Given the description of an element on the screen output the (x, y) to click on. 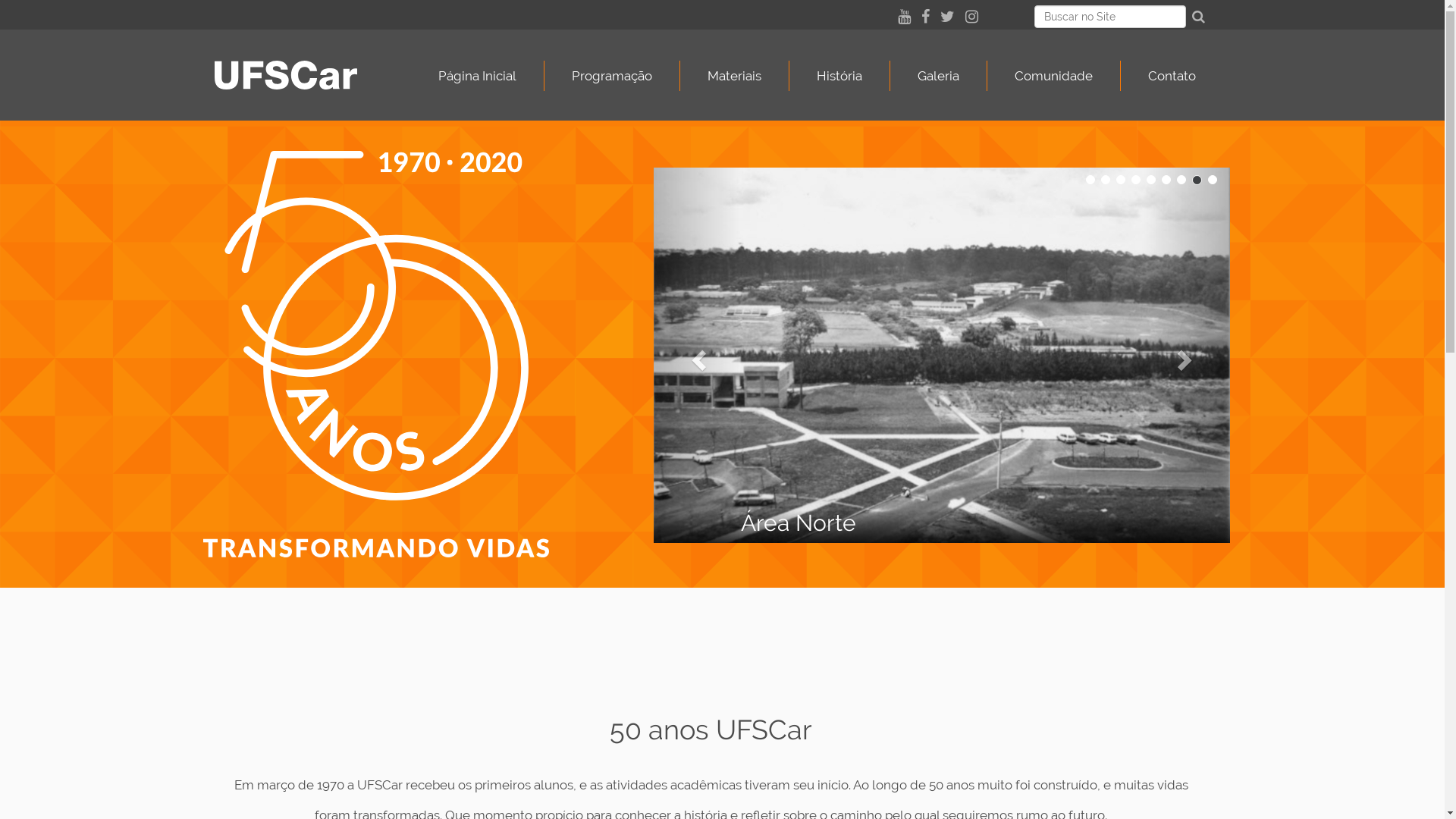
UFSCar Element type: hover (304, 74)
UFSCar Element type: hover (285, 74)
Materiais Element type: text (734, 75)
Buscar no Site Element type: hover (1110, 16)
Next Element type: text (1186, 354)
Galeria Element type: text (938, 75)
Comunidade Element type: text (1053, 75)
Contato Element type: text (1171, 75)
Previous Element type: text (696, 354)
